Given the description of an element on the screen output the (x, y) to click on. 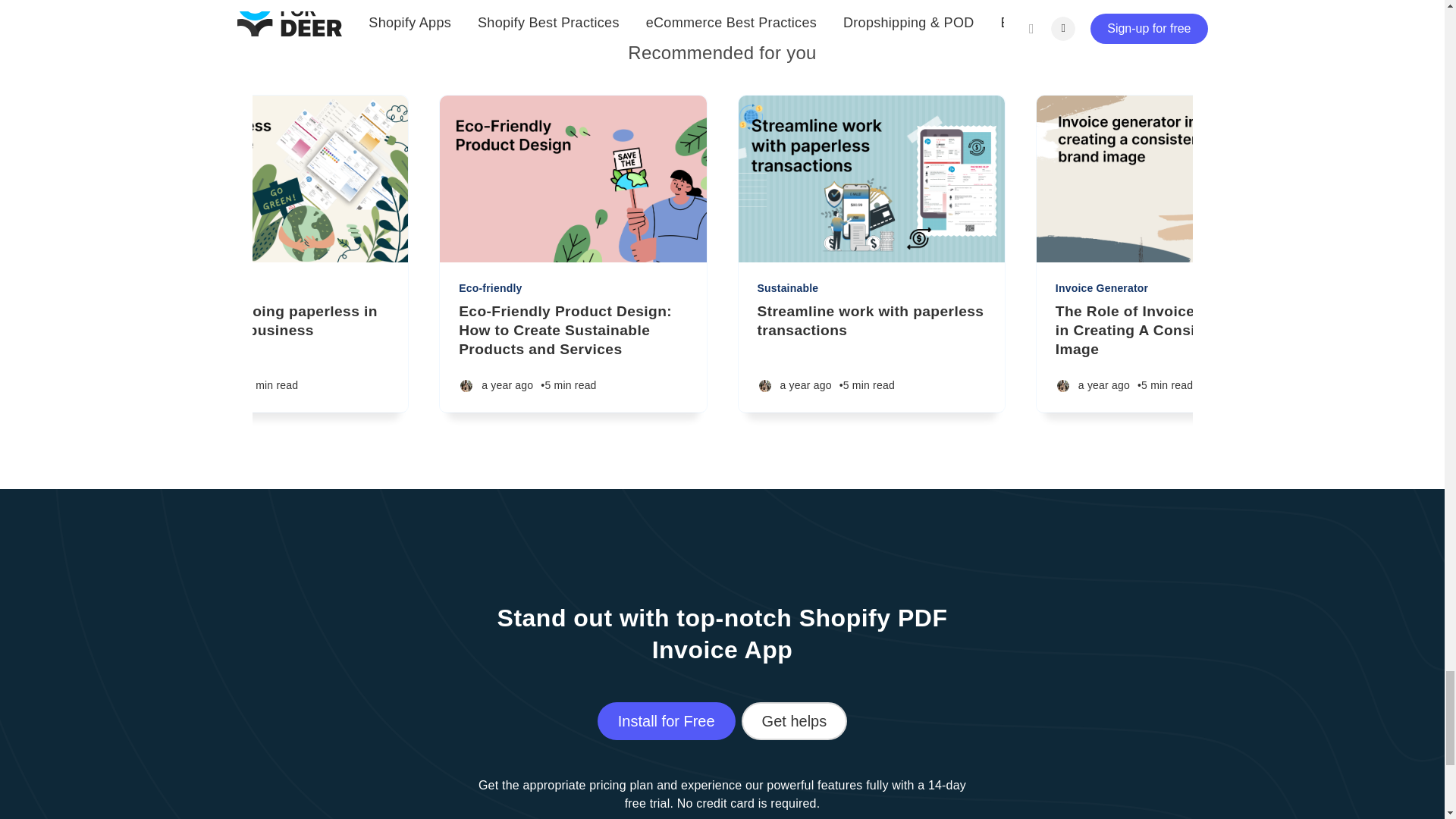
Streamline work with paperless transactions (871, 321)
Benefits of going paperless in sustainable business (274, 321)
